Given the description of an element on the screen output the (x, y) to click on. 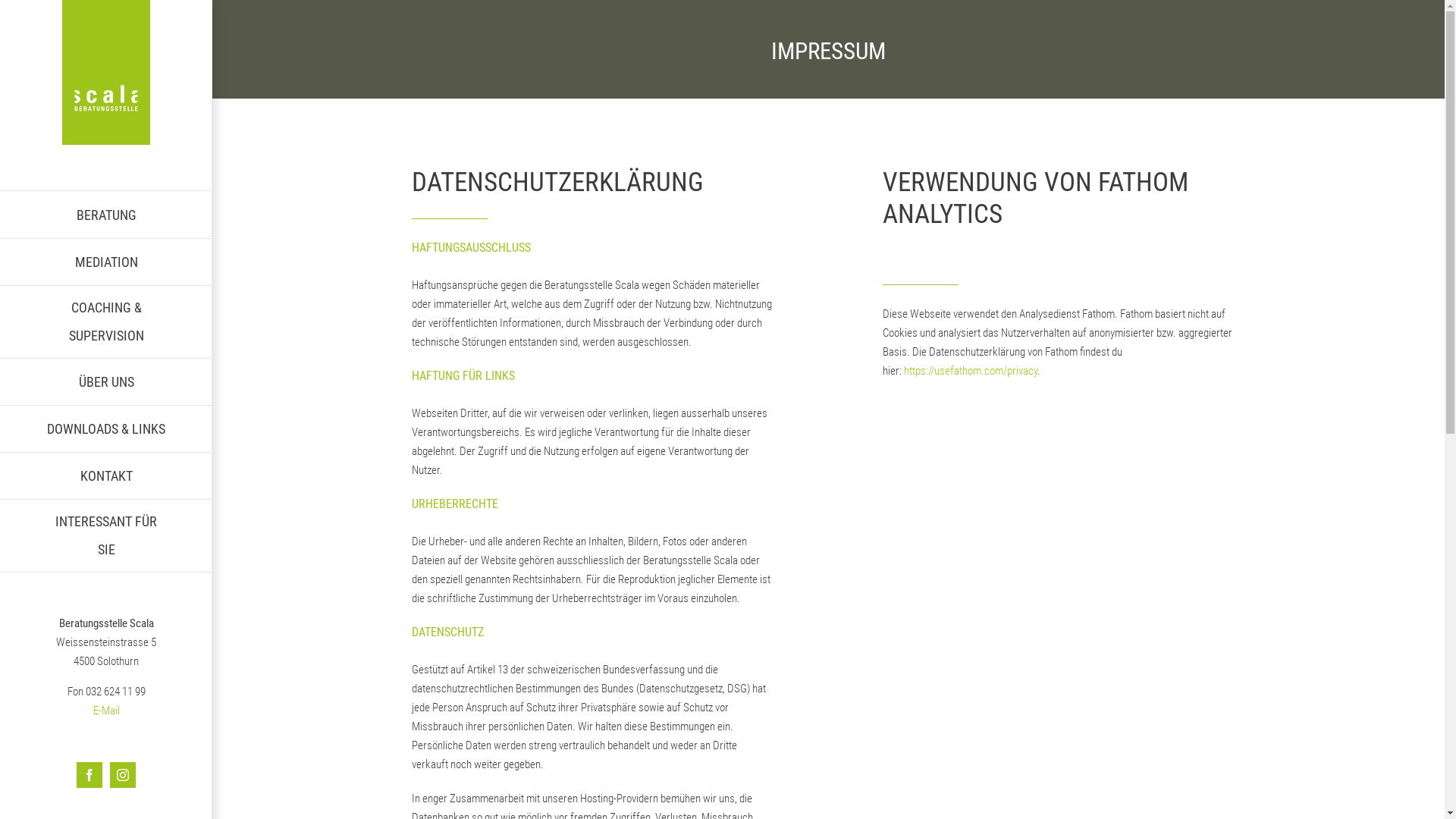
BERATUNG Element type: text (106, 214)
KONTAKT Element type: text (106, 475)
Instagram Element type: text (122, 774)
DOWNLOADS & LINKS Element type: text (106, 428)
https://usefathom.com/privacy Element type: text (970, 370)
MEDIATION Element type: text (106, 261)
Facebook Element type: text (89, 774)
COACHING & SUPERVISION Element type: text (106, 321)
E-Mail Element type: text (105, 710)
